Given the description of an element on the screen output the (x, y) to click on. 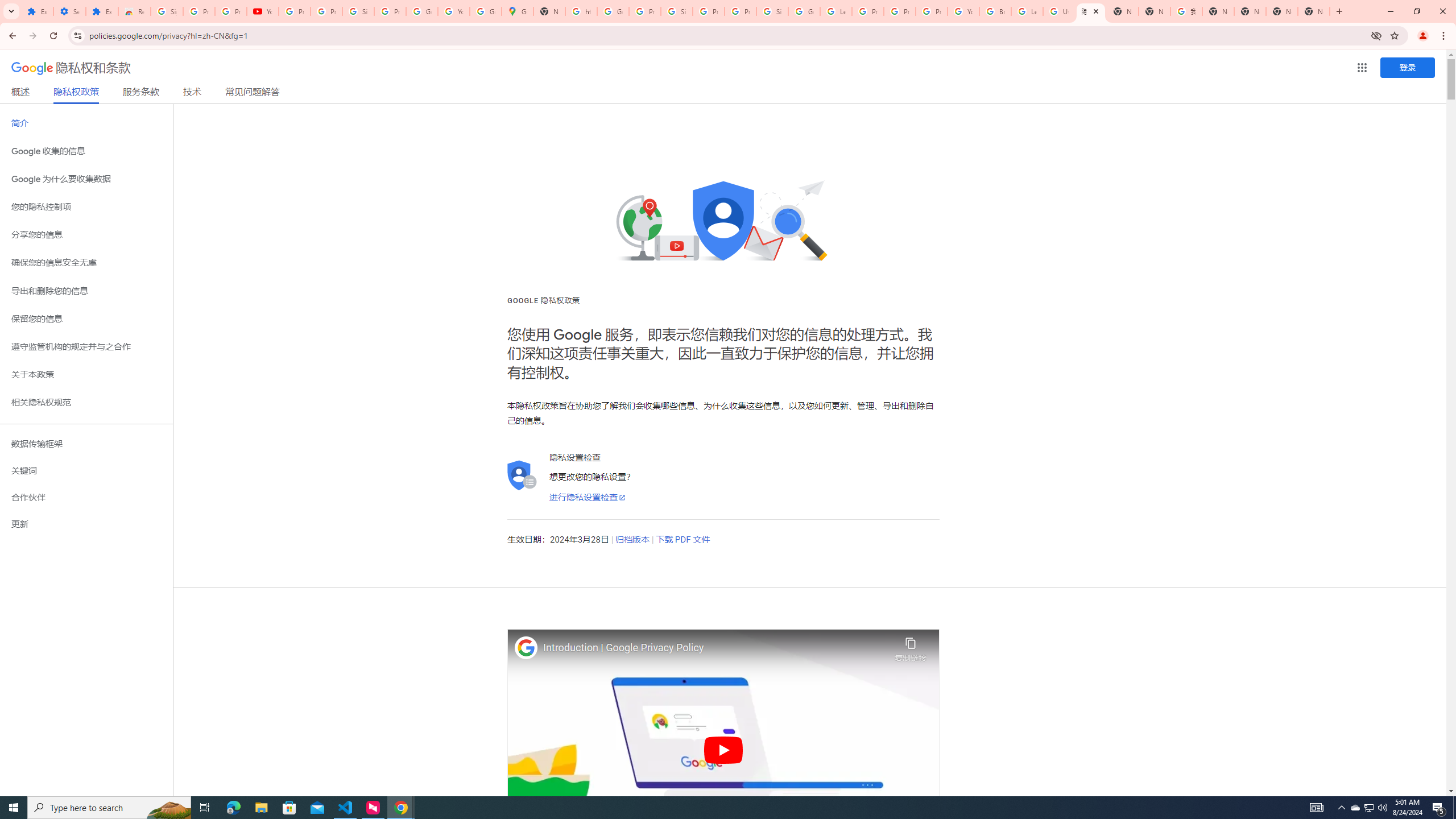
Sign in - Google Accounts (772, 11)
Introduction | Google Privacy Policy (716, 648)
